Given the description of an element on the screen output the (x, y) to click on. 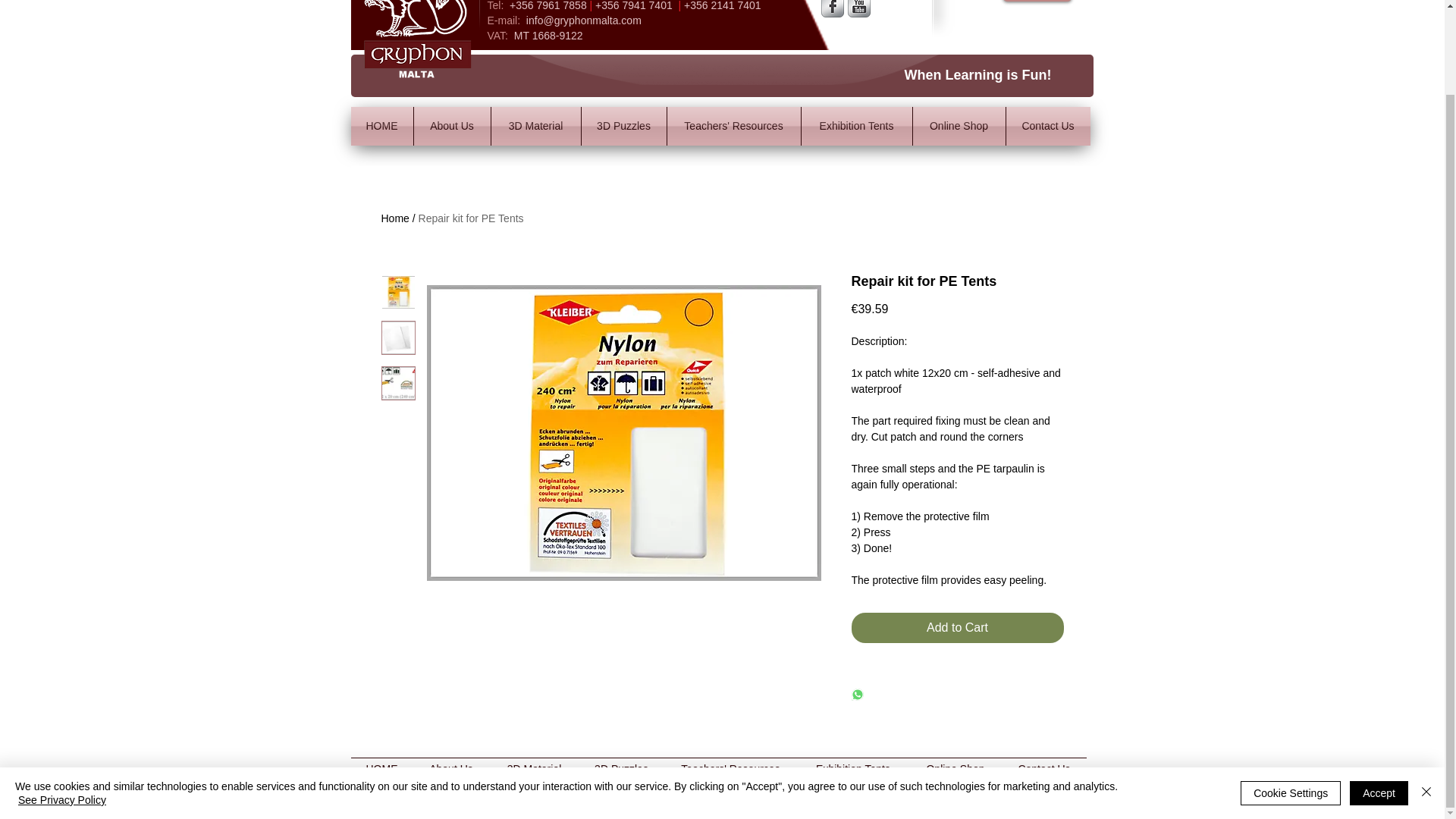
HOME (381, 768)
Repair kit for PE Tents (471, 218)
Teachers' Resources (733, 126)
Home (394, 218)
3D Material (536, 126)
HOME (381, 126)
Exhibition Tents (855, 126)
3D Puzzles (622, 126)
About Us (450, 768)
View Cart (1036, 0)
Educational Products, 3D Items, 3D Puzzles and Tents (417, 41)
About Us (451, 126)
Online Shop (959, 126)
Contact Us (1047, 126)
Add to Cart (956, 627)
